Given the description of an element on the screen output the (x, y) to click on. 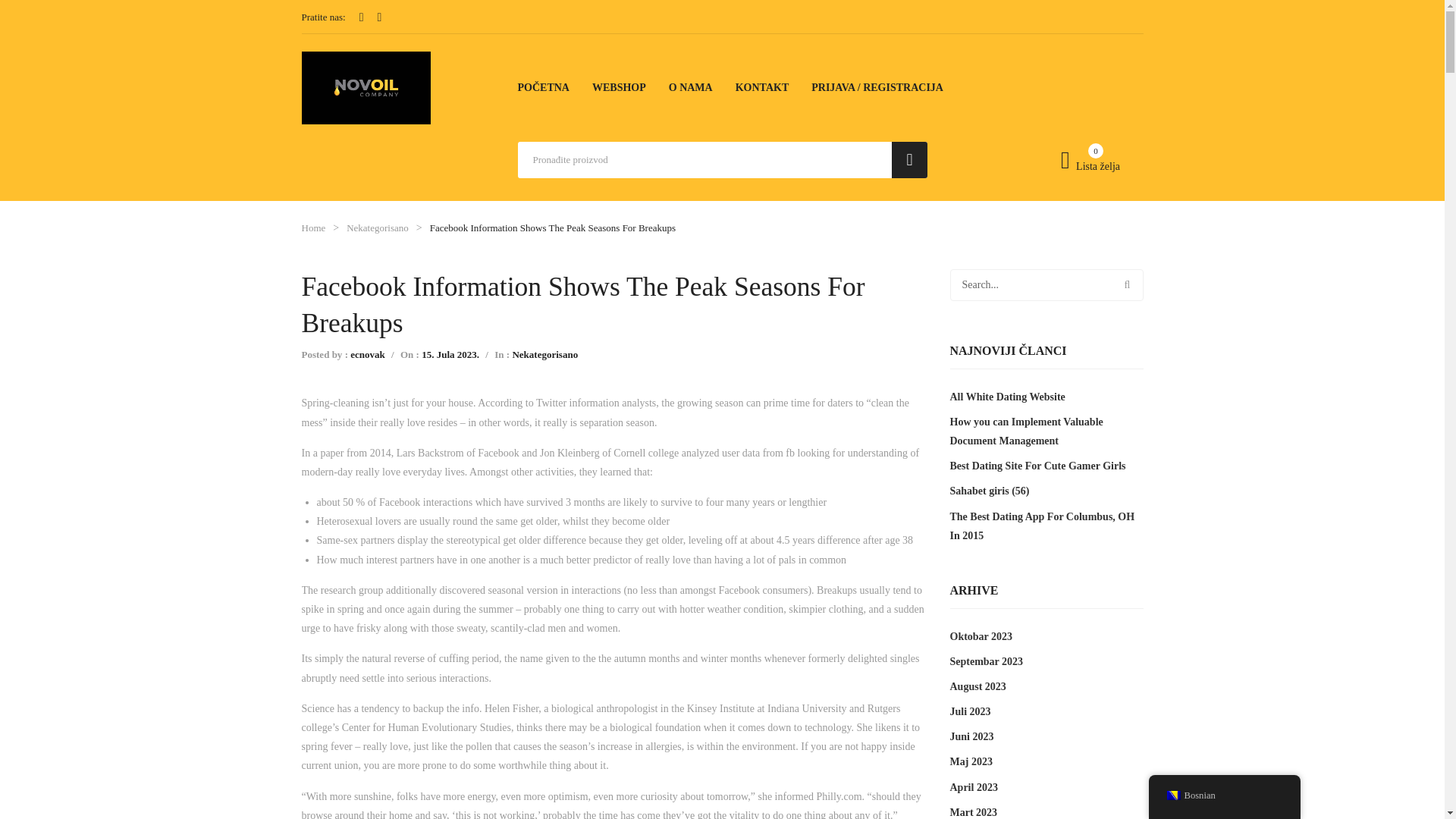
Nekategorisano (545, 354)
KONTAKT (762, 87)
O NAMA (690, 87)
Nekategorisano (377, 227)
WEBSHOP (619, 87)
ecnovak (367, 354)
NovOil (365, 86)
Home (313, 227)
15. Jula 2023. (450, 354)
Bosnian (1172, 795)
